Given the description of an element on the screen output the (x, y) to click on. 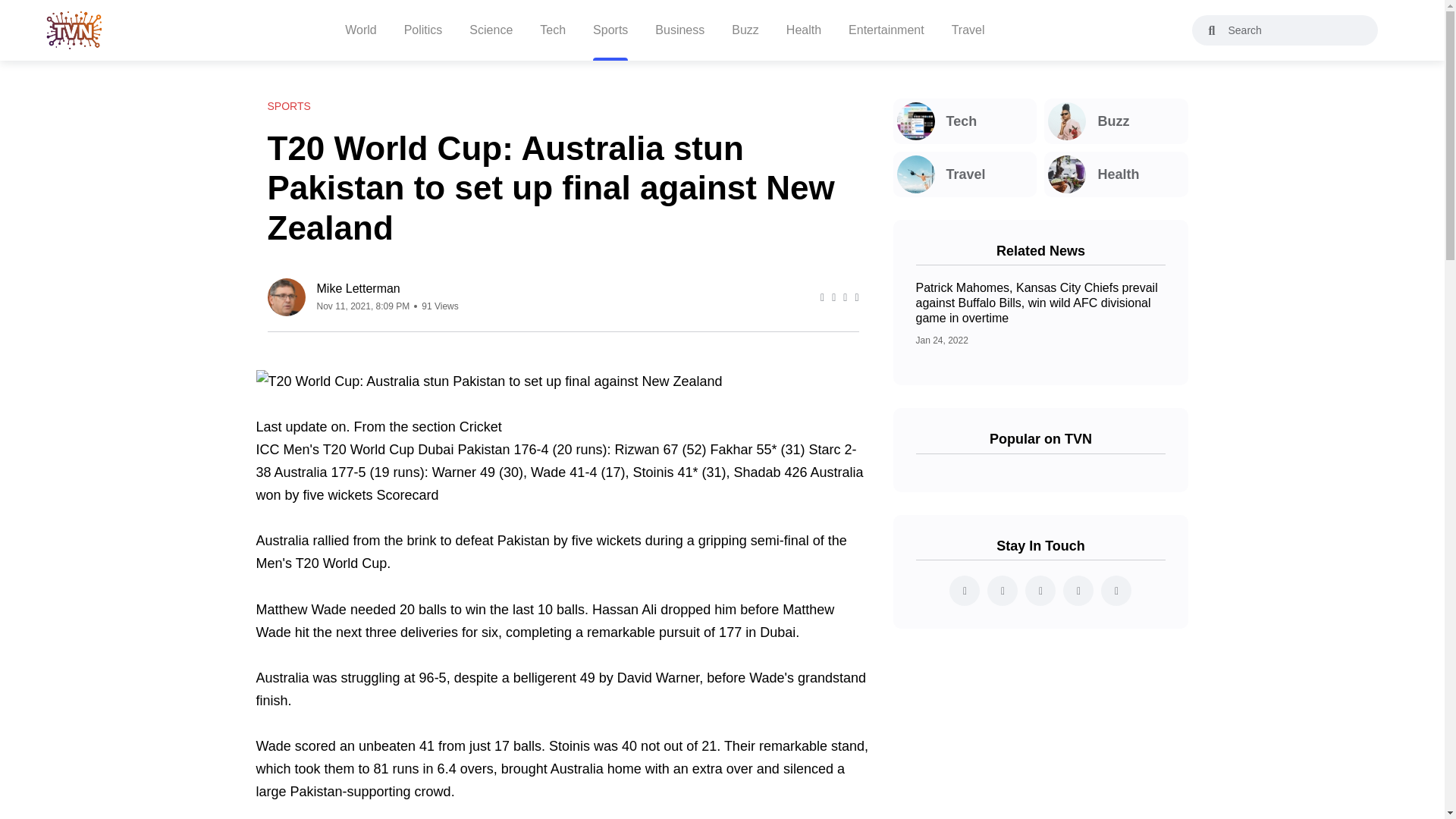
Tech (964, 121)
Mike Letterman (387, 288)
Business (679, 30)
Politics (423, 30)
Tech (553, 30)
Buzz (745, 30)
Science (490, 30)
Travel (968, 30)
SPORTS (288, 105)
Buzz (1115, 121)
World (361, 30)
Health (803, 30)
Sports (609, 30)
Entertainment (886, 30)
